Given the description of an element on the screen output the (x, y) to click on. 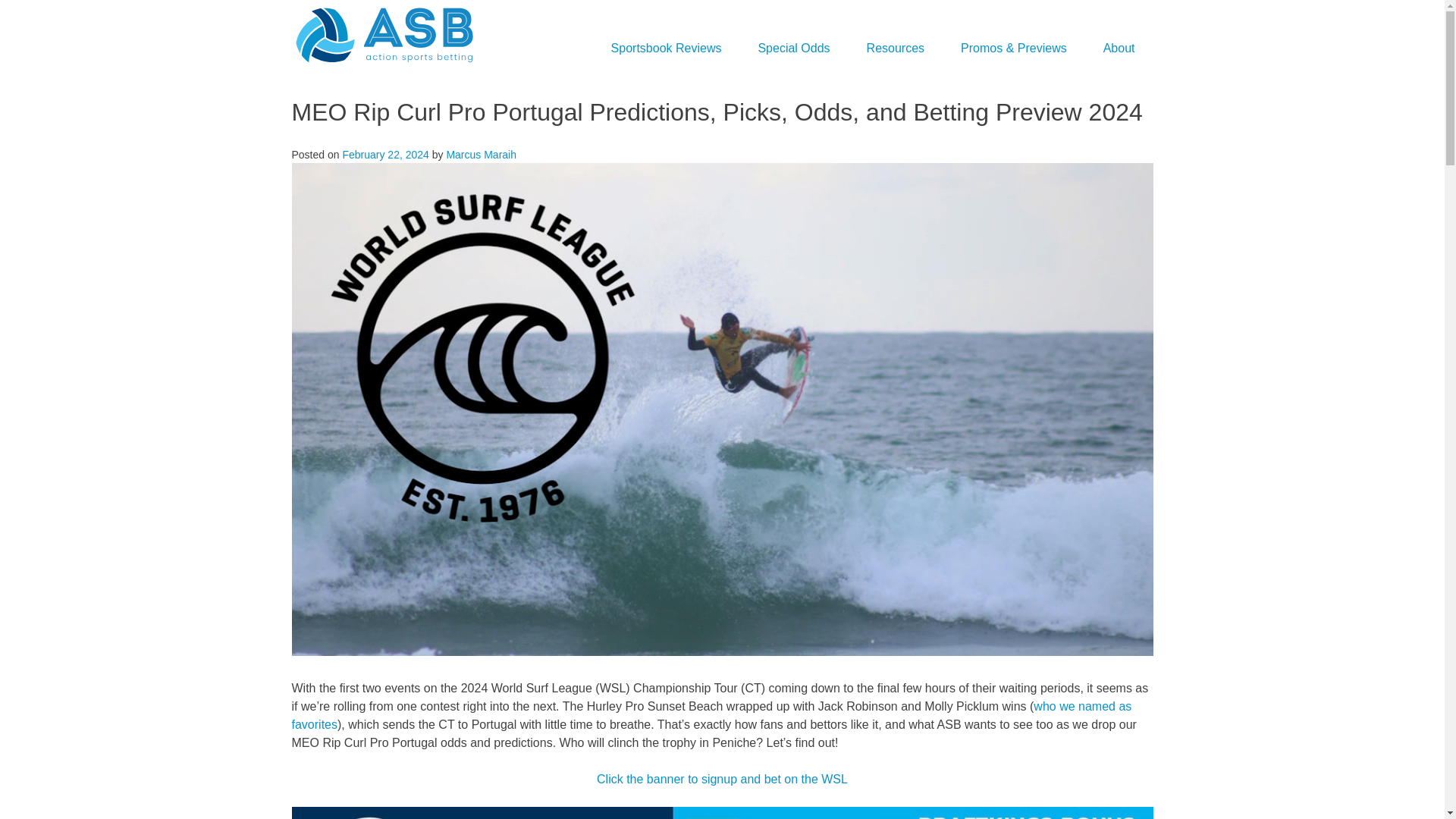
Special Odds (793, 48)
About (1118, 48)
who we named as favorites (711, 715)
Marcus Maraih (480, 154)
Click the banner to signup and bet on the WSL (721, 779)
Sportsbook Reviews (665, 48)
Resources (895, 48)
February 22, 2024 (385, 154)
